Given the description of an element on the screen output the (x, y) to click on. 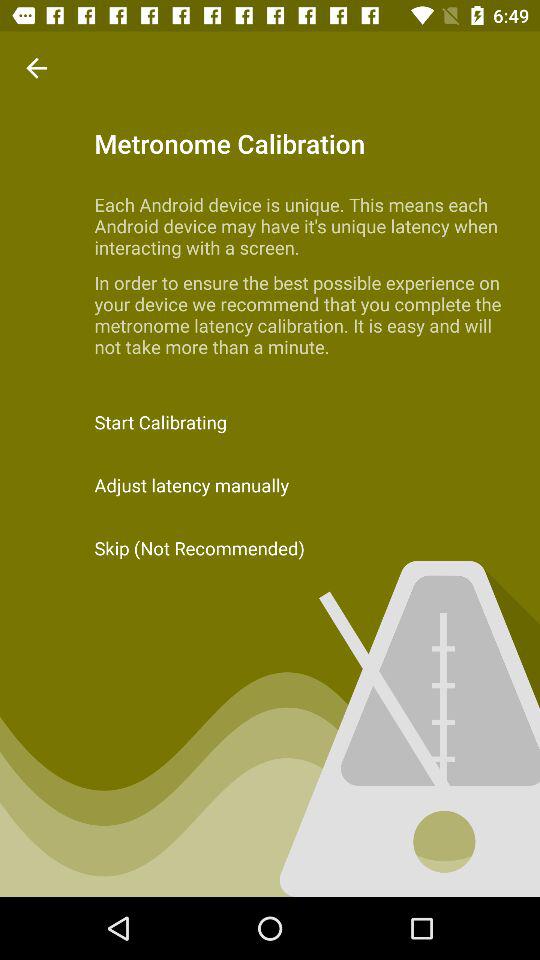
choose icon below start calibrating item (270, 484)
